Given the description of an element on the screen output the (x, y) to click on. 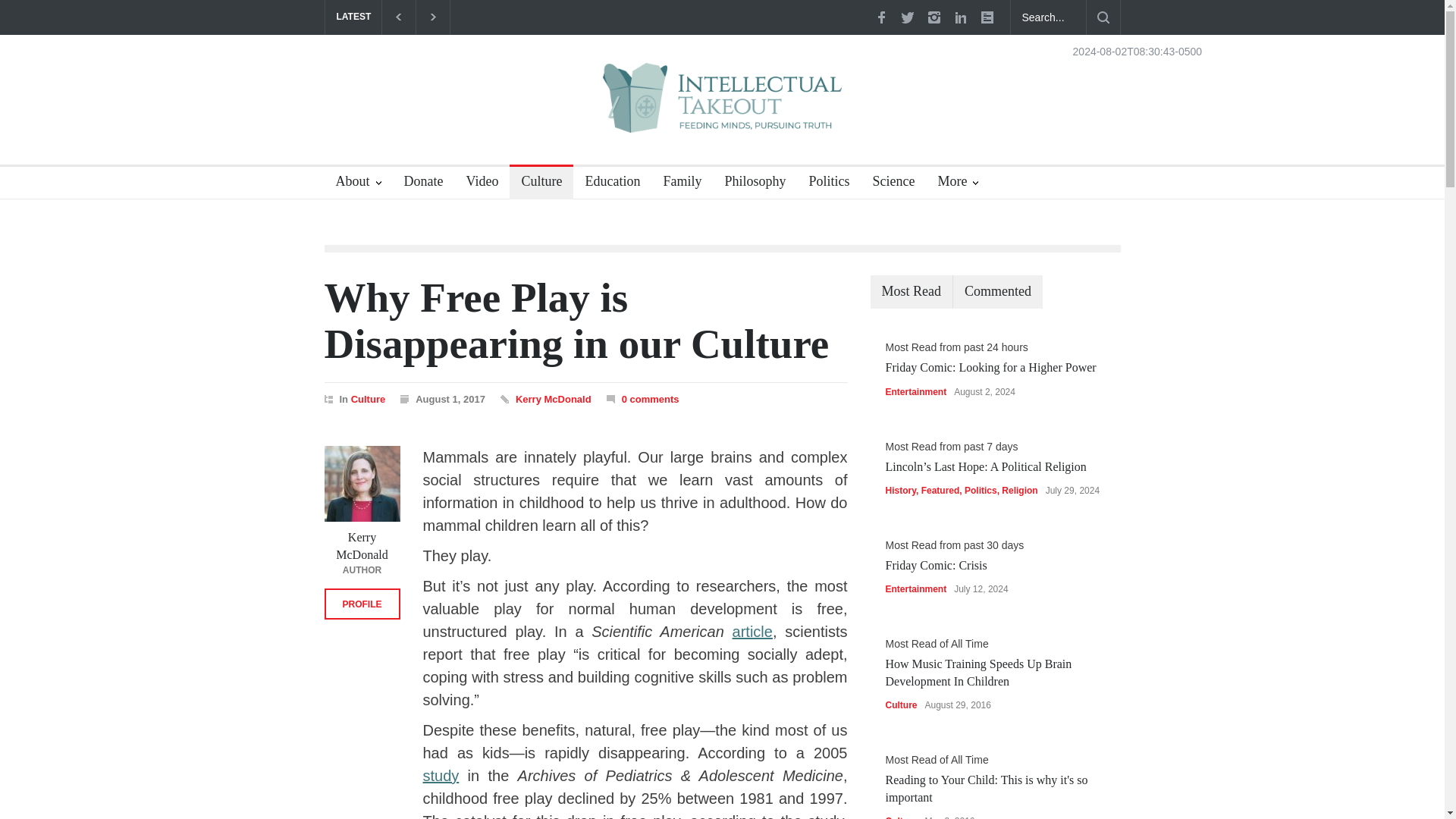
0 comments (643, 398)
Kerry McDonald (553, 398)
Why Free Play is Disappearing in our Culture (576, 320)
Intellectual Takeout (721, 107)
Philosophy (749, 183)
2024-08-02T08:30:43-0500 (1137, 50)
Science (887, 183)
Search... (1048, 17)
Donate (418, 183)
Culture (535, 183)
Education (606, 183)
Family (675, 183)
Kerry McDonald (553, 398)
